Given the description of an element on the screen output the (x, y) to click on. 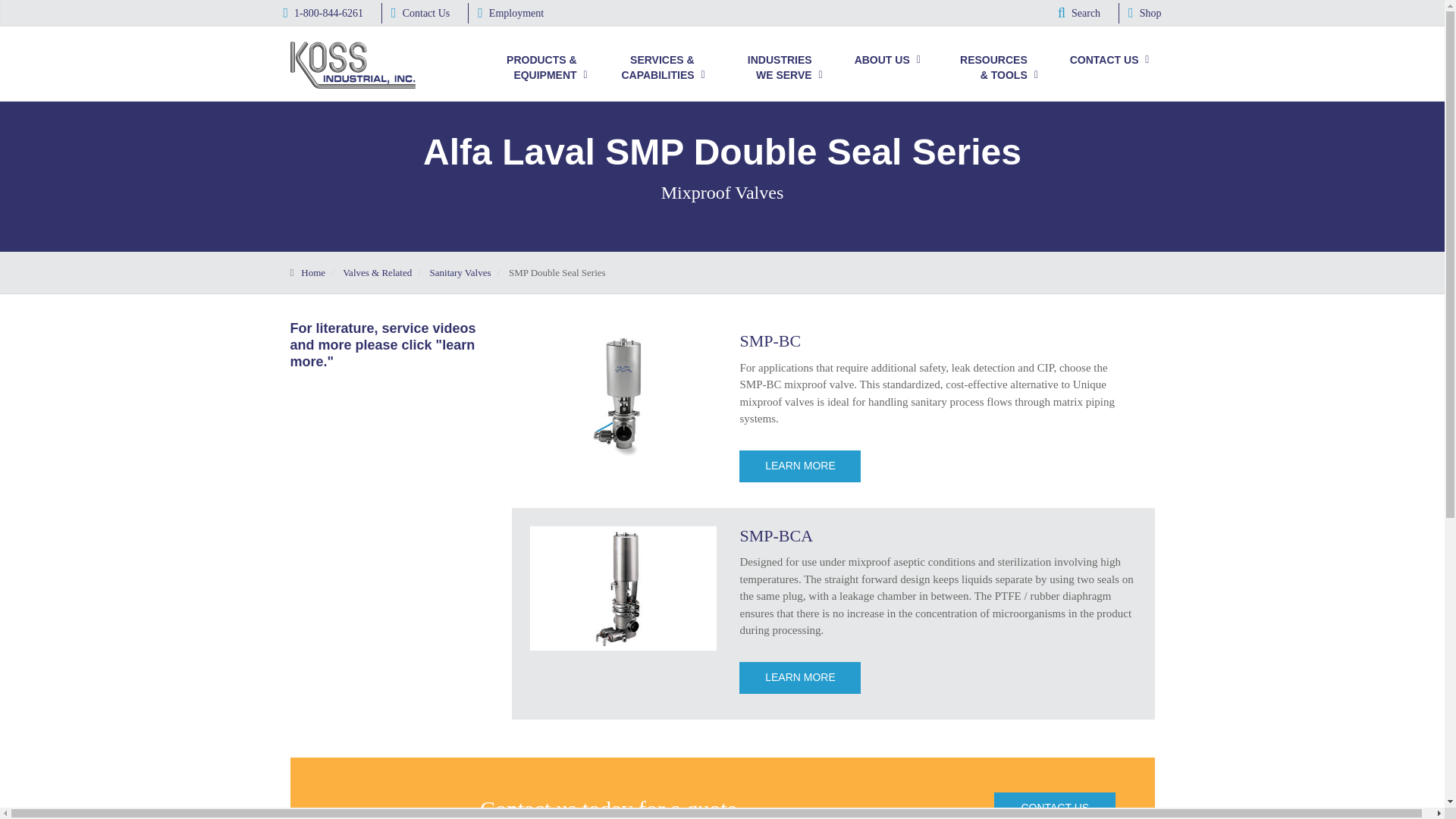
Employment (510, 13)
1-800-844-6261 (323, 13)
Search (1079, 13)
Shop (1144, 13)
Contact Us (420, 13)
